Given the description of an element on the screen output the (x, y) to click on. 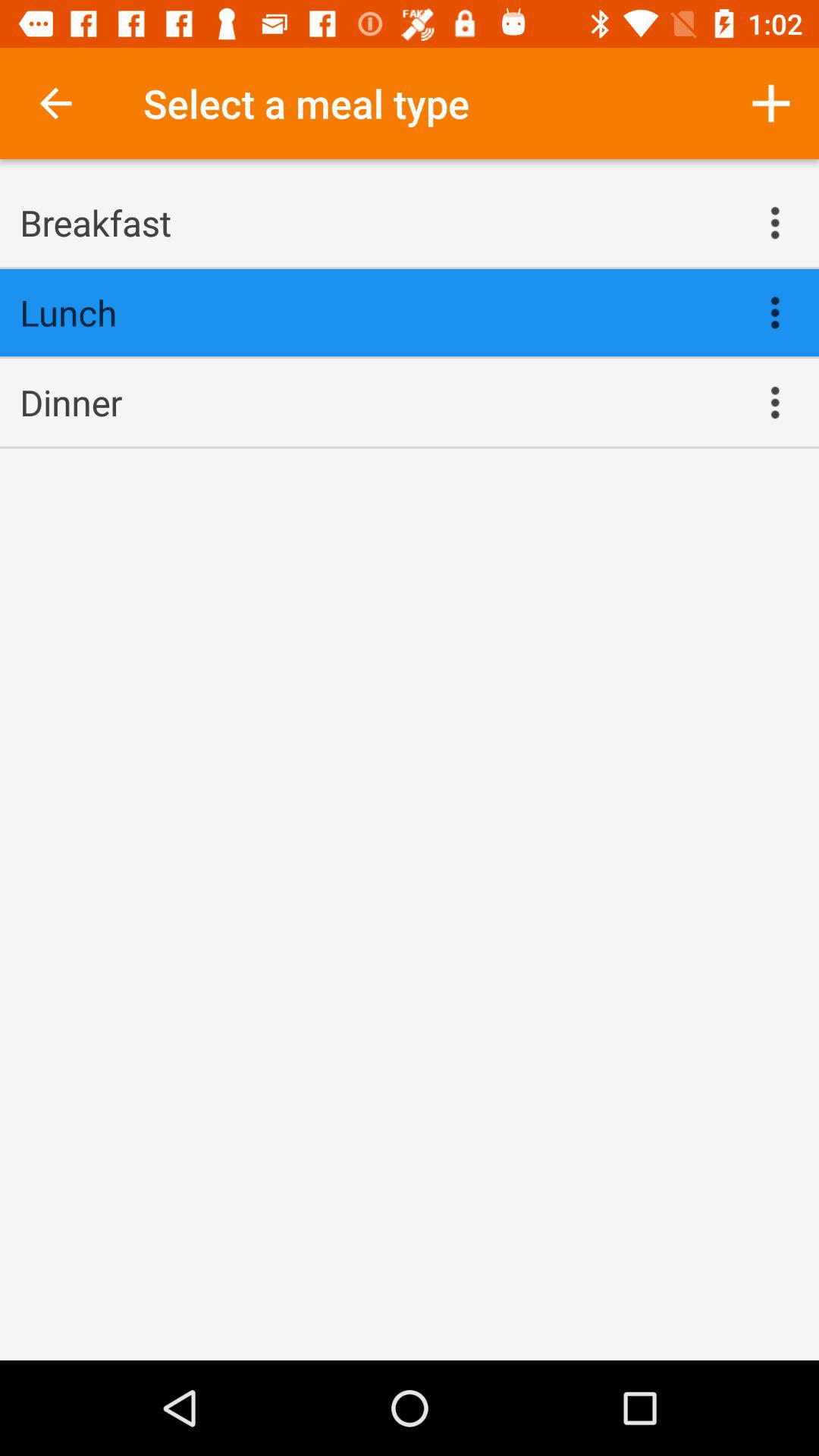
flip until lunch icon (375, 312)
